Given the description of an element on the screen output the (x, y) to click on. 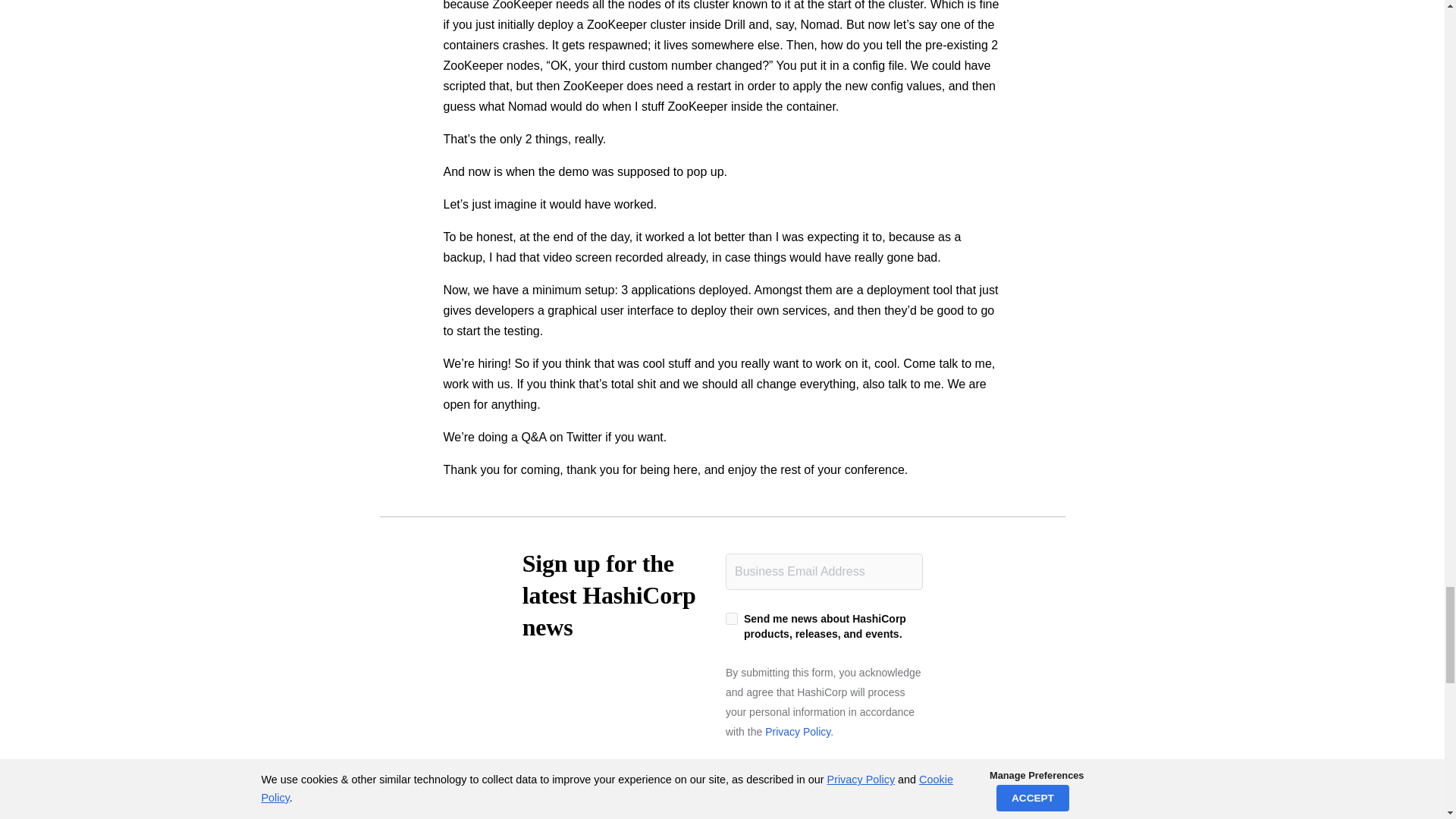
on (731, 618)
